Given the description of an element on the screen output the (x, y) to click on. 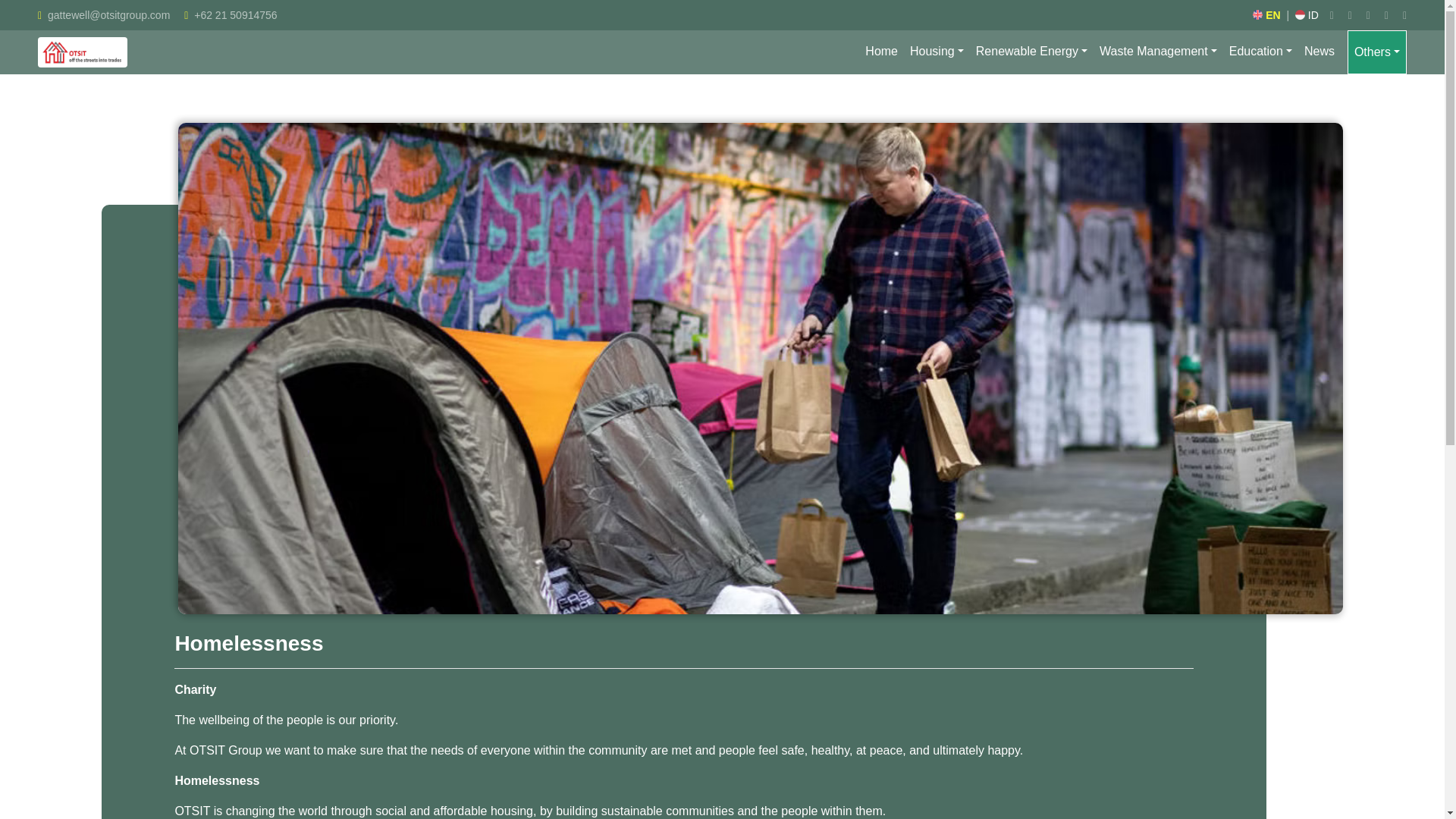
Renewable Energy (1031, 51)
Others (1377, 52)
Home (881, 51)
Education (1260, 51)
News   (1323, 51)
ID (1307, 15)
Housing (936, 51)
EN (1265, 15)
Waste Management (1158, 51)
